Given the description of an element on the screen output the (x, y) to click on. 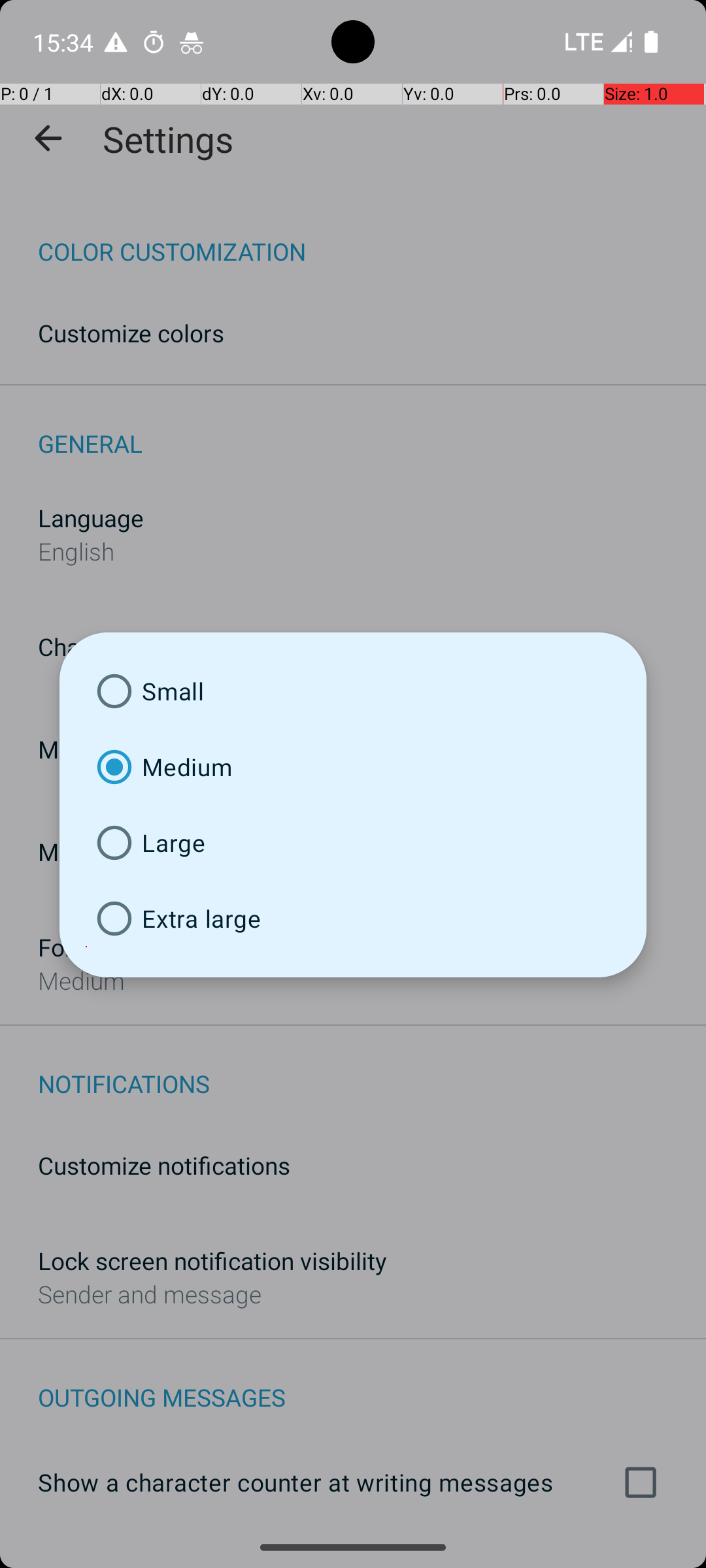
Small Element type: android.widget.RadioButton (352, 691)
Medium Element type: android.widget.RadioButton (352, 766)
Large Element type: android.widget.RadioButton (352, 842)
Extra large Element type: android.widget.RadioButton (352, 918)
